Given the description of an element on the screen output the (x, y) to click on. 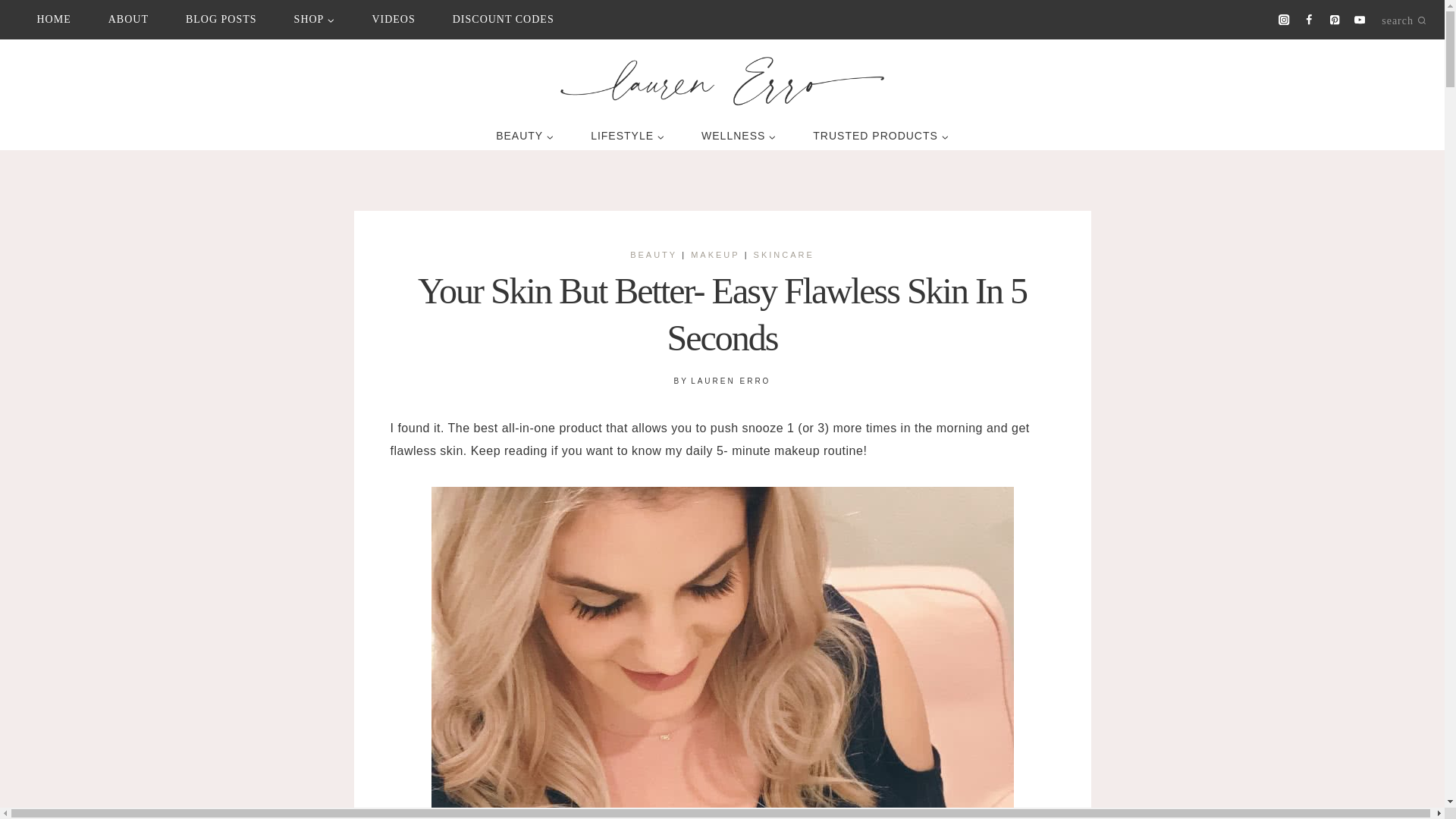
SHOP (314, 19)
ABOUT (127, 19)
LIFESTYLE (627, 135)
BLOG POSTS (221, 19)
VIDEOS (393, 19)
WELLNESS (738, 135)
DISCOUNT CODES (502, 19)
search (1401, 19)
BEAUTY (524, 135)
TRUSTED PRODUCTS (881, 135)
HOME (52, 19)
